Given the description of an element on the screen output the (x, y) to click on. 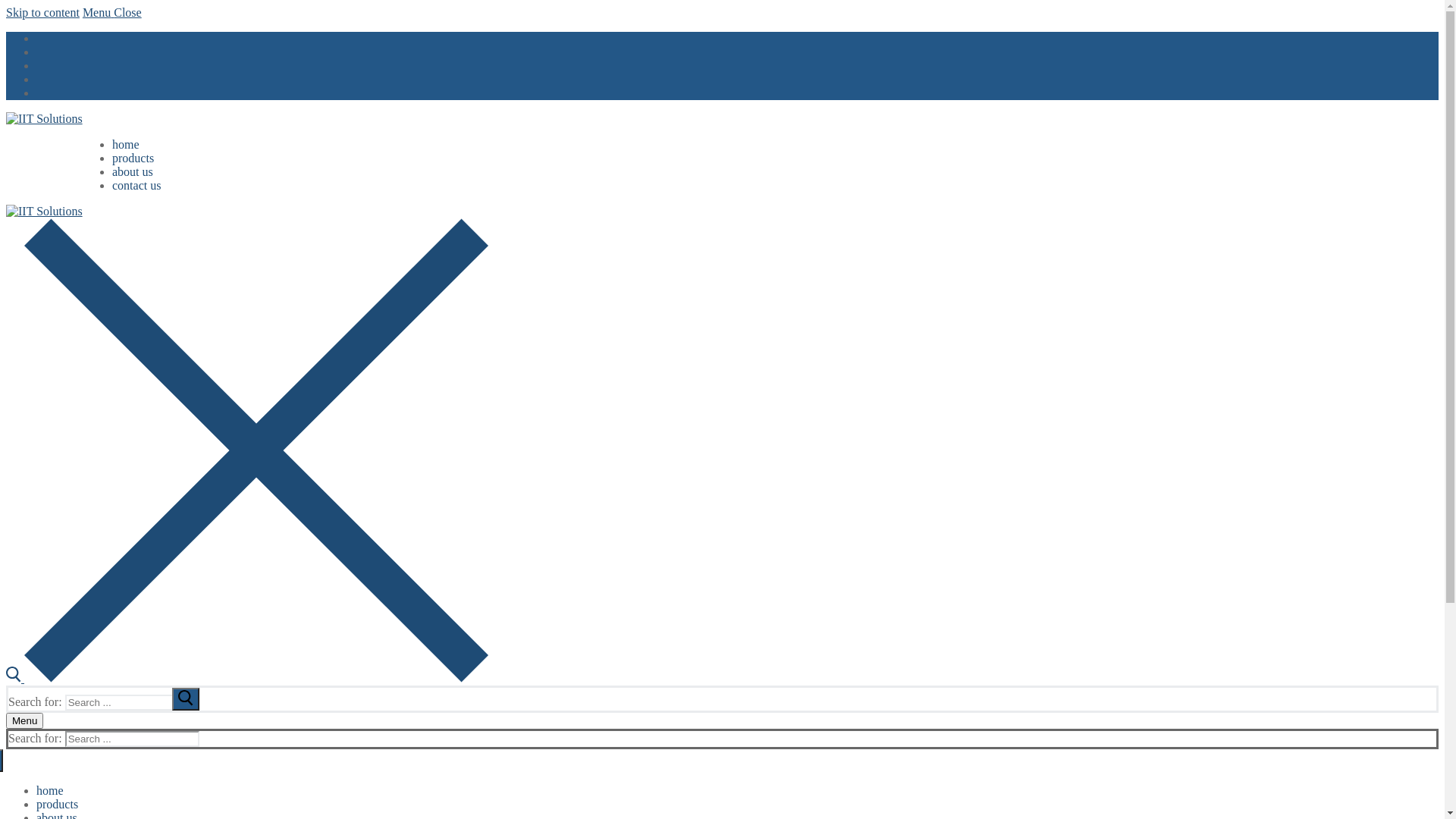
contact us Element type: text (136, 184)
Menu Element type: text (24, 720)
about us Element type: text (132, 171)
home Element type: text (125, 144)
Menu Close Element type: text (111, 12)
Search for: Element type: hover (132, 738)
Search for: Element type: hover (132, 702)
home Element type: text (49, 790)
products Element type: text (132, 157)
Skip to content Element type: text (42, 12)
products Element type: text (57, 803)
